Given the description of an element on the screen output the (x, y) to click on. 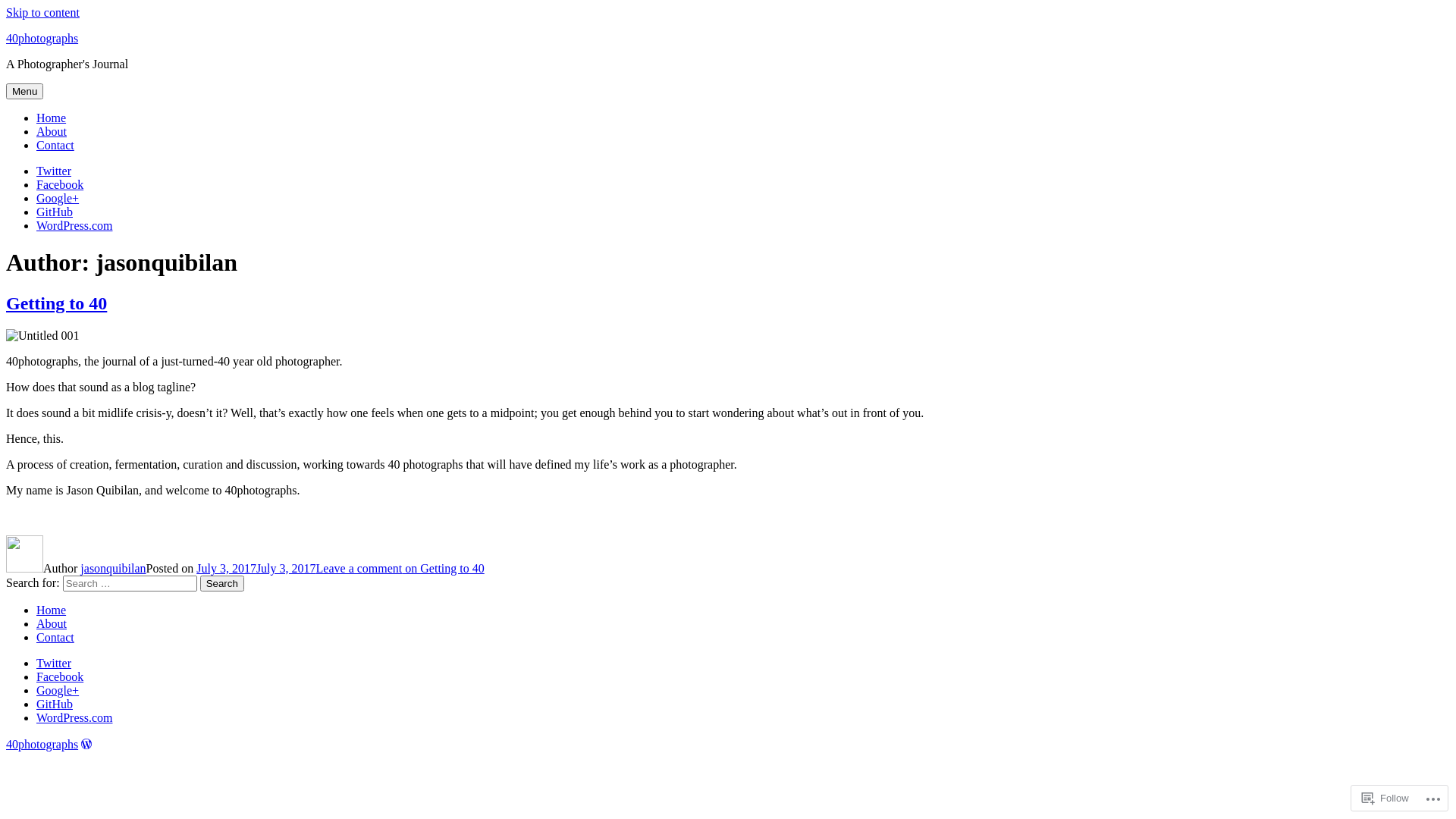
Create a website or blog at WordPress.com Element type: text (86, 743)
Twitter Element type: text (53, 170)
Skip to content Element type: text (42, 12)
Follow Element type: text (1385, 797)
Getting to 40 Element type: text (56, 303)
About Element type: text (51, 623)
GitHub Element type: text (54, 211)
Google+ Element type: text (57, 197)
jasonquibilan Element type: text (112, 567)
Facebook Element type: text (59, 184)
Contact Element type: text (55, 636)
Facebook Element type: text (59, 676)
40photographs Element type: text (42, 743)
WordPress.com Element type: text (74, 717)
Menu Element type: text (24, 91)
Home Element type: text (50, 609)
Google+ Element type: text (57, 690)
Search Element type: text (222, 583)
Home Element type: text (50, 117)
40photographs Element type: text (42, 37)
Twitter Element type: text (53, 662)
Leave a comment on Getting to 40 Element type: text (400, 567)
Contact Element type: text (55, 144)
July 3, 2017July 3, 2017 Element type: text (255, 567)
GitHub Element type: text (54, 703)
About Element type: text (51, 131)
WordPress.com Element type: text (74, 225)
